Given the description of an element on the screen output the (x, y) to click on. 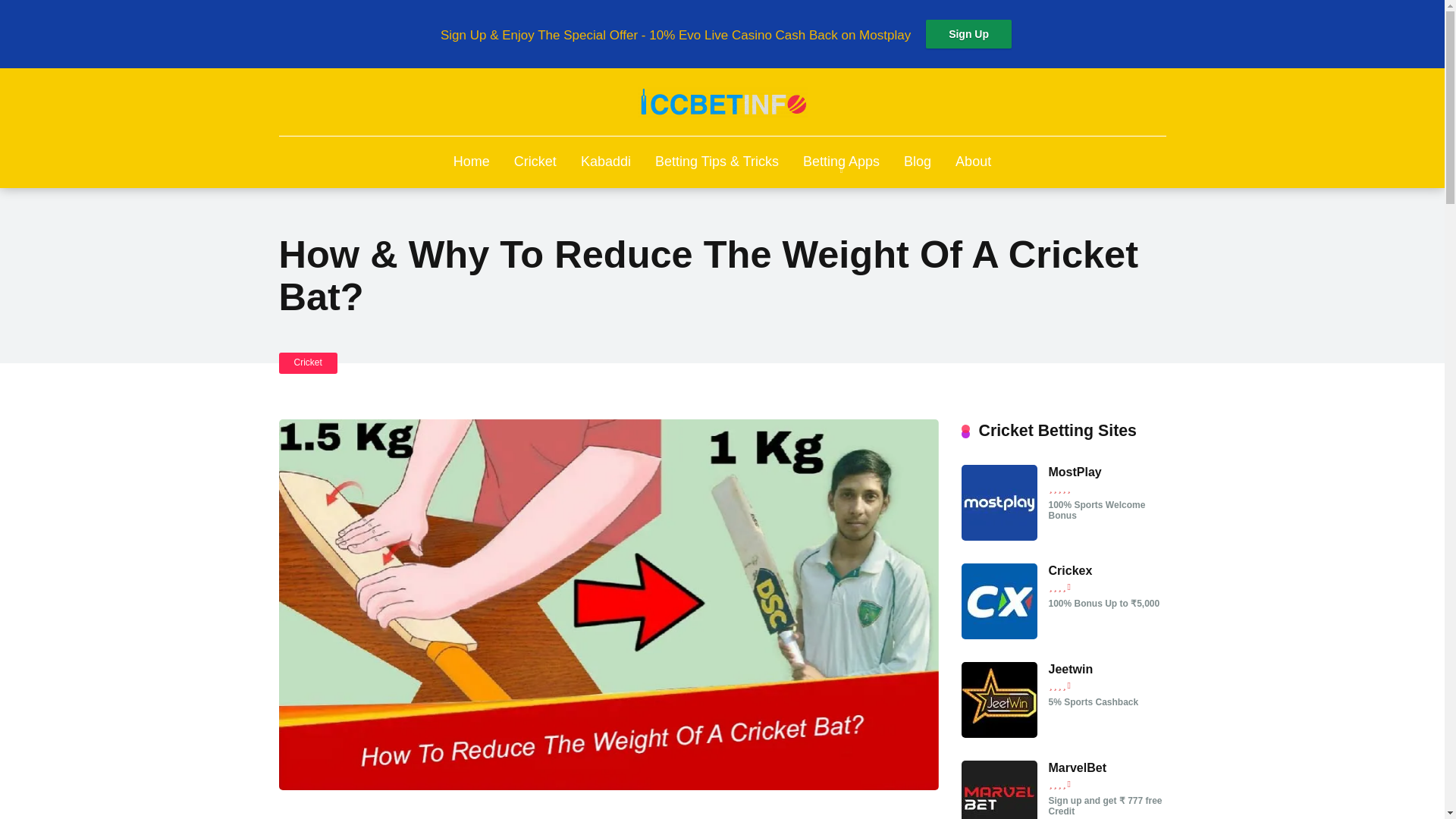
Cricket (535, 162)
Home (471, 162)
Jeetwin (1070, 669)
Iccbetinfo (721, 101)
Betting Apps (840, 162)
Crickex (998, 634)
About (973, 162)
Sign Up (968, 33)
Blog (917, 162)
Cricket (308, 362)
